Given the description of an element on the screen output the (x, y) to click on. 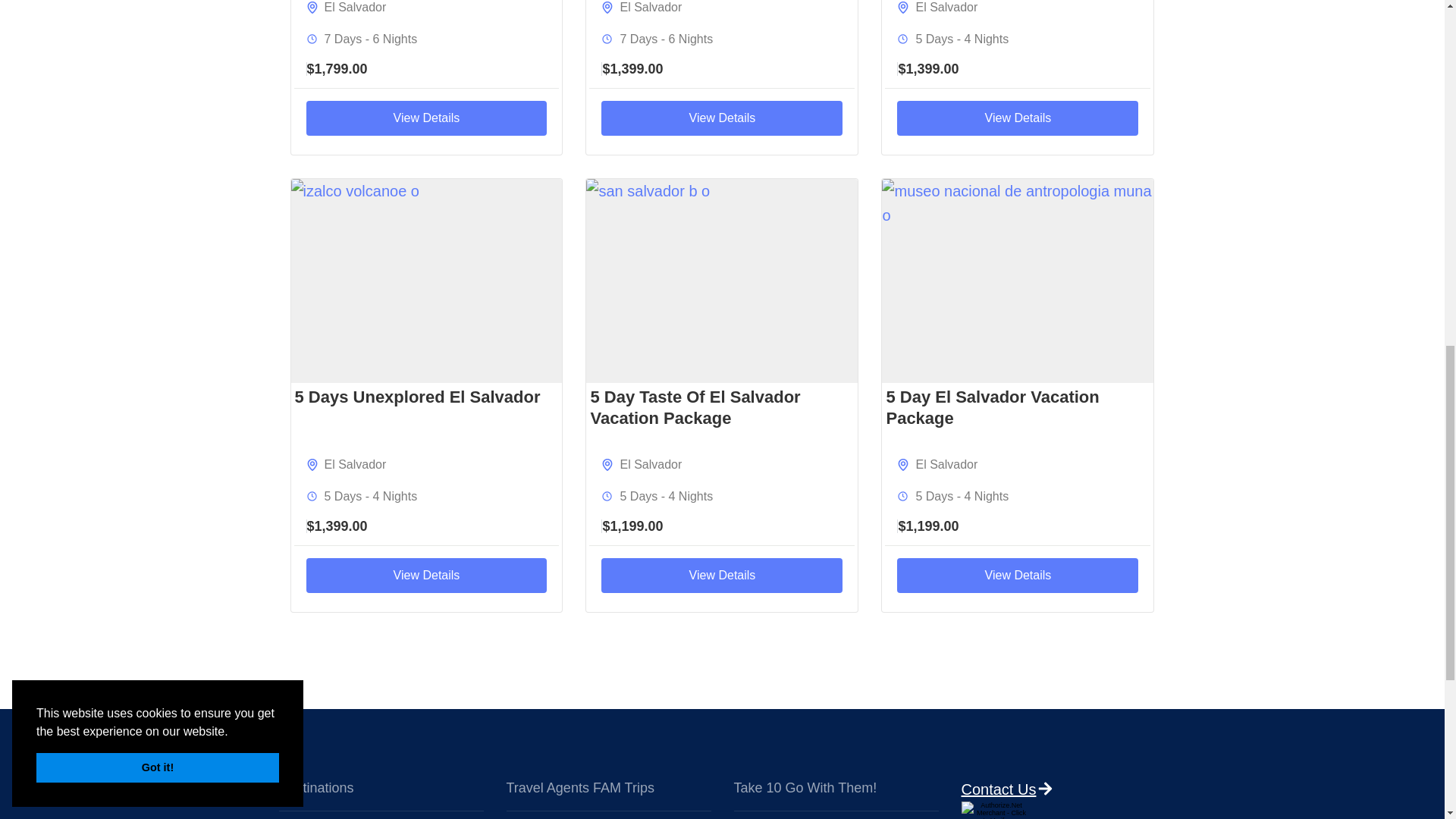
Contact Us (1044, 788)
Contact Us (1044, 788)
